Given the description of an element on the screen output the (x, y) to click on. 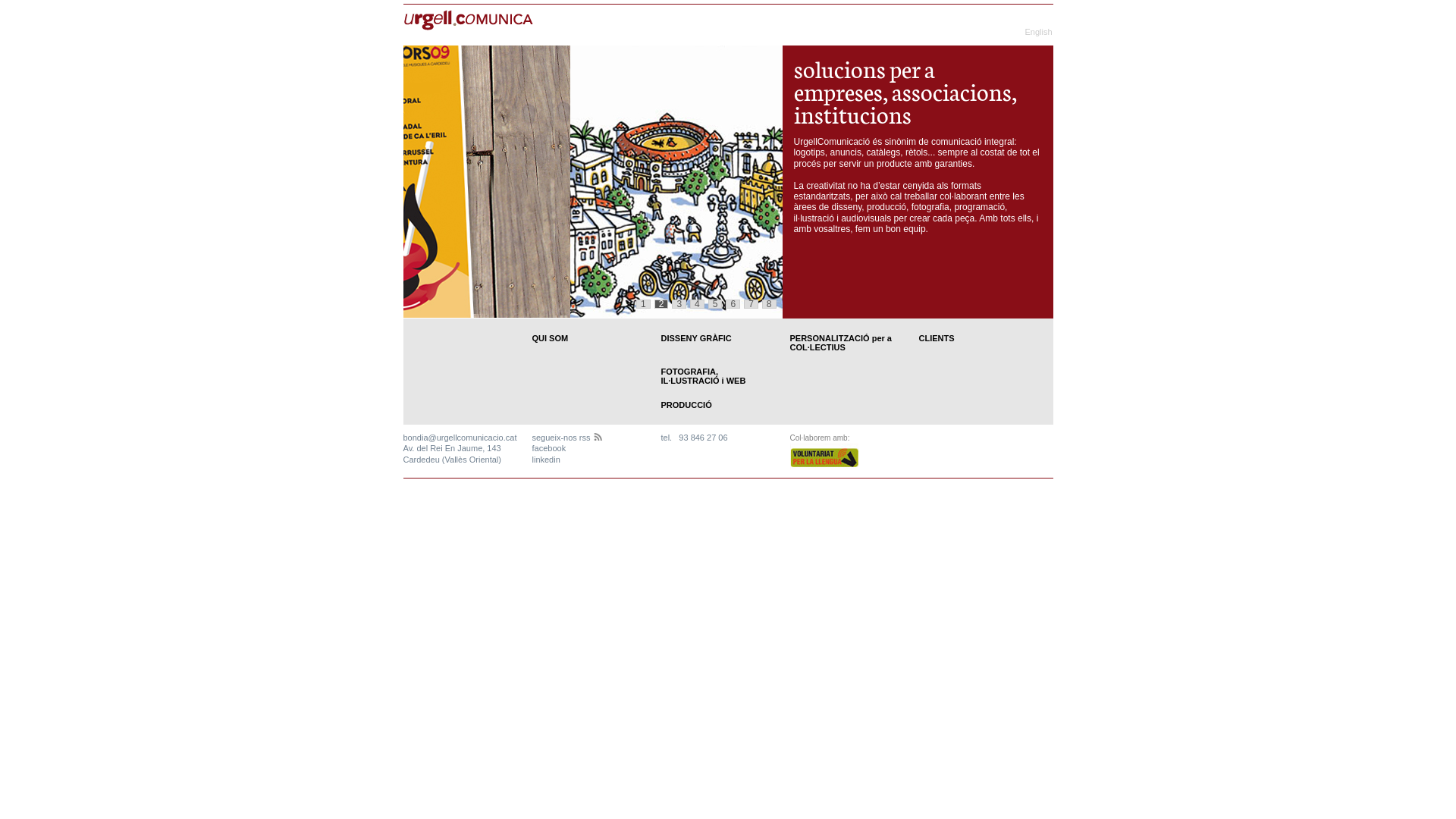
QUI SOM Element type: text (550, 337)
5 Element type: text (715, 303)
bondia@urgellcomunicacio.cat Element type: text (460, 437)
7 Element type: text (750, 303)
segueix-nos rss Element type: text (567, 437)
4 Element type: text (697, 303)
8 Element type: text (769, 303)
CLIENTS Element type: text (936, 337)
2 Element type: text (661, 303)
6 Element type: text (732, 303)
facebook Element type: text (549, 447)
1 Element type: text (643, 303)
linkedin Element type: text (546, 459)
3 Element type: text (678, 303)
English Element type: text (1037, 31)
